Given the description of an element on the screen output the (x, y) to click on. 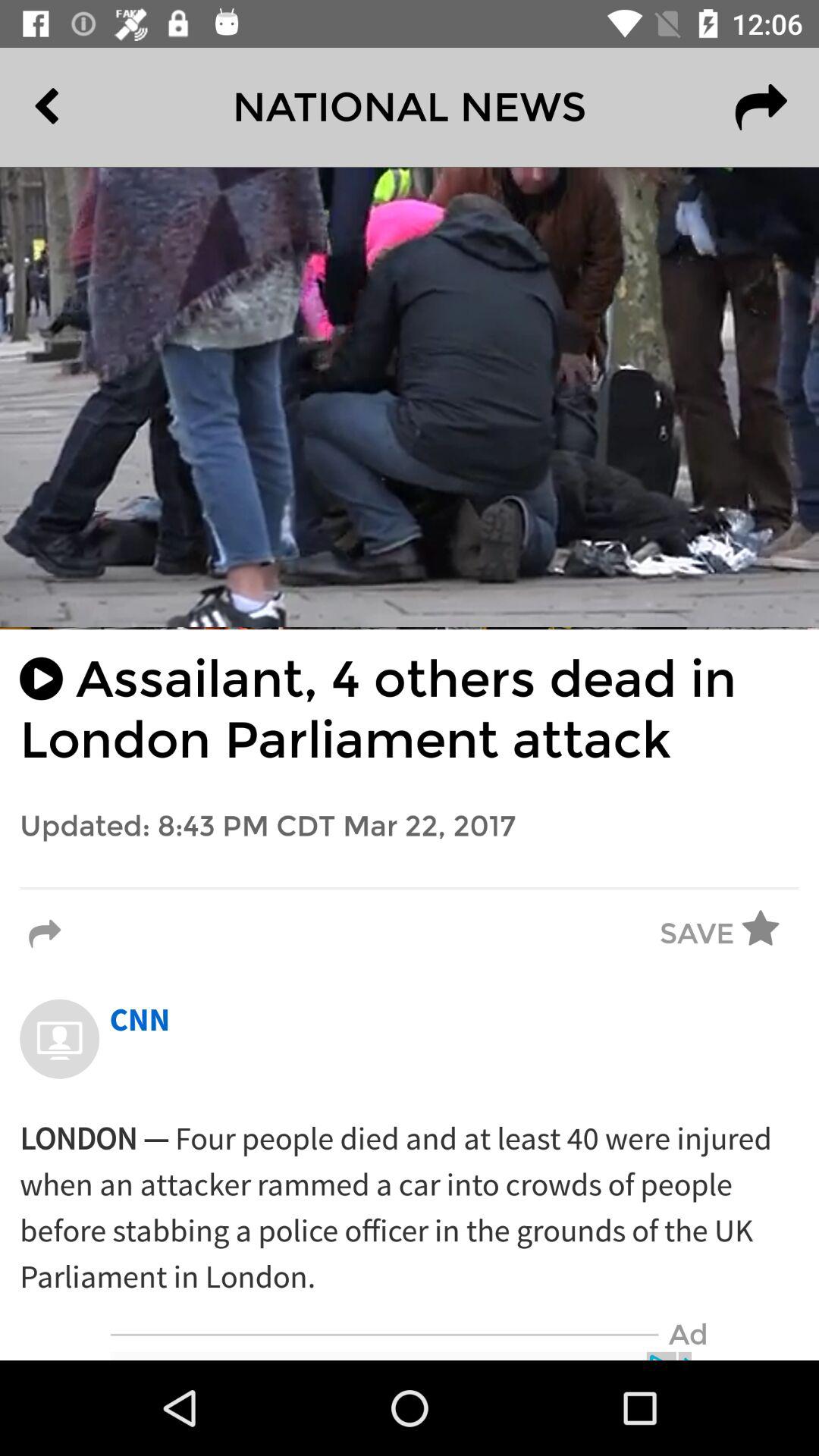
click to go back icon (81, 107)
click on the symbol which is right hand side of the text national news (761, 107)
